Given the description of an element on the screen output the (x, y) to click on. 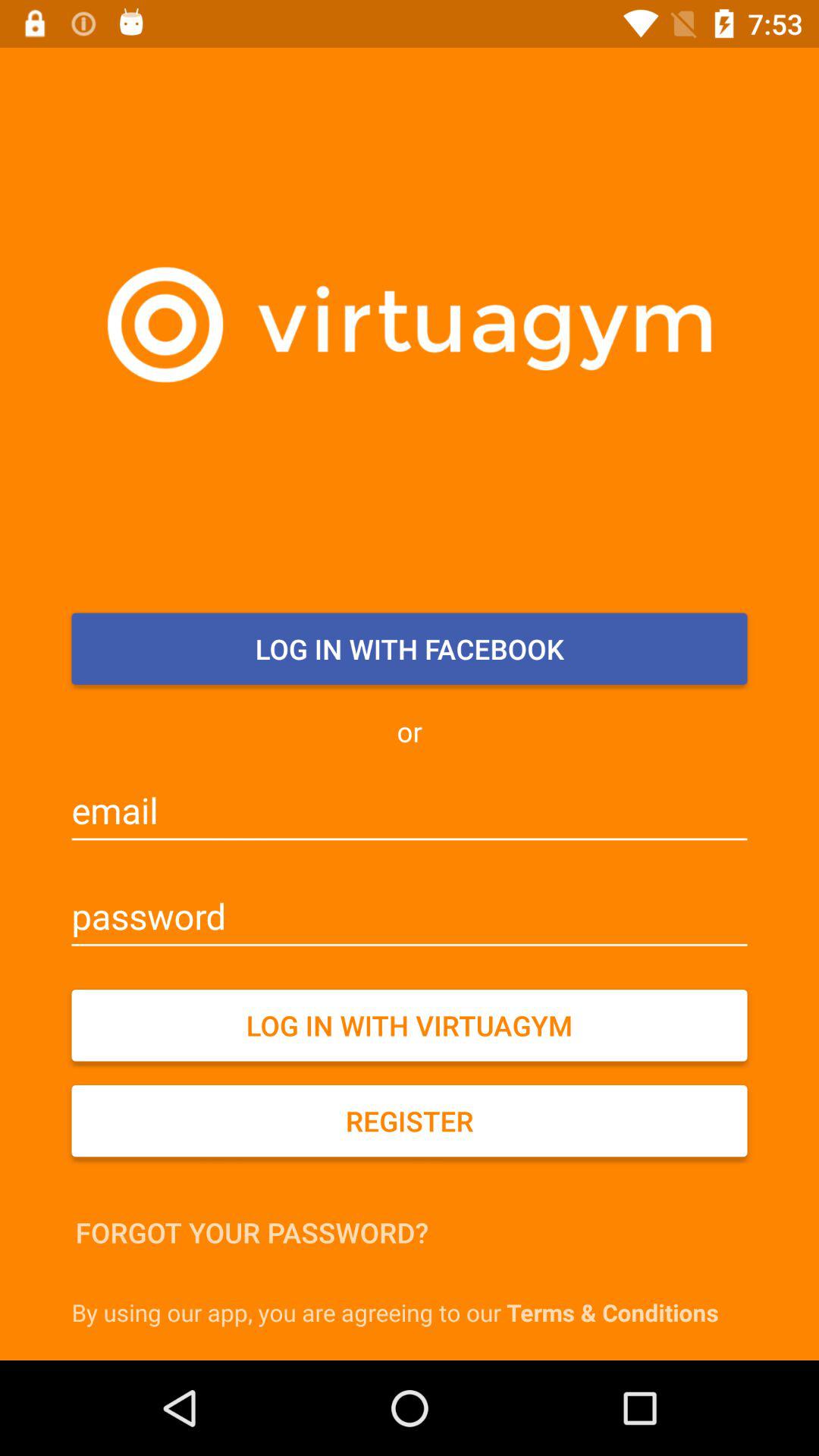
turn on the by using our icon (413, 1312)
